Given the description of an element on the screen output the (x, y) to click on. 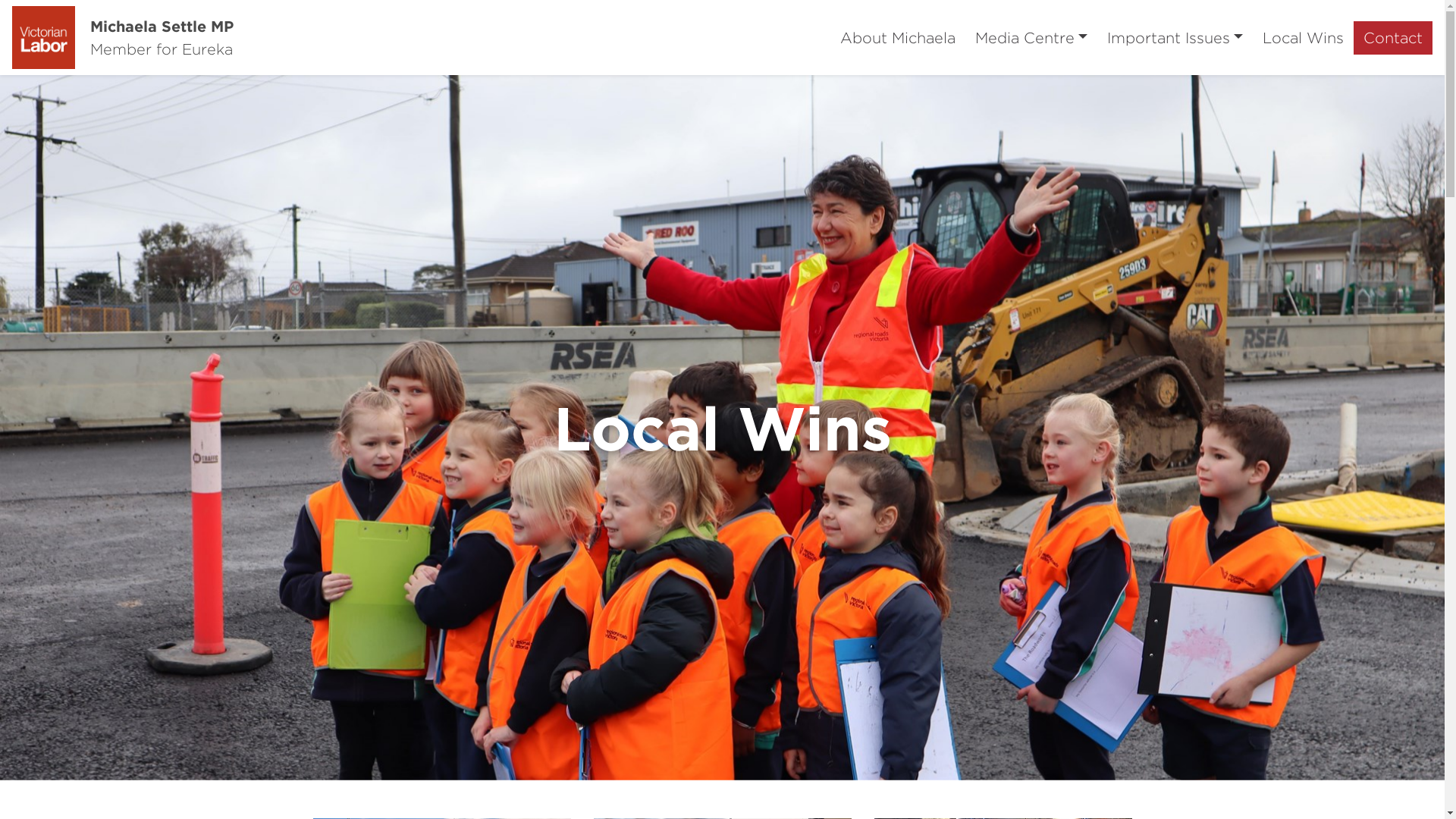
About Michaela Element type: text (897, 37)
Contact Element type: text (1392, 37)
Media Centre Element type: text (1031, 37)
Local Wins Element type: text (1302, 37)
Important Issues Element type: text (1174, 37)
Next Element type: text (1335, 427)
Previous Element type: text (108, 427)
